Given the description of an element on the screen output the (x, y) to click on. 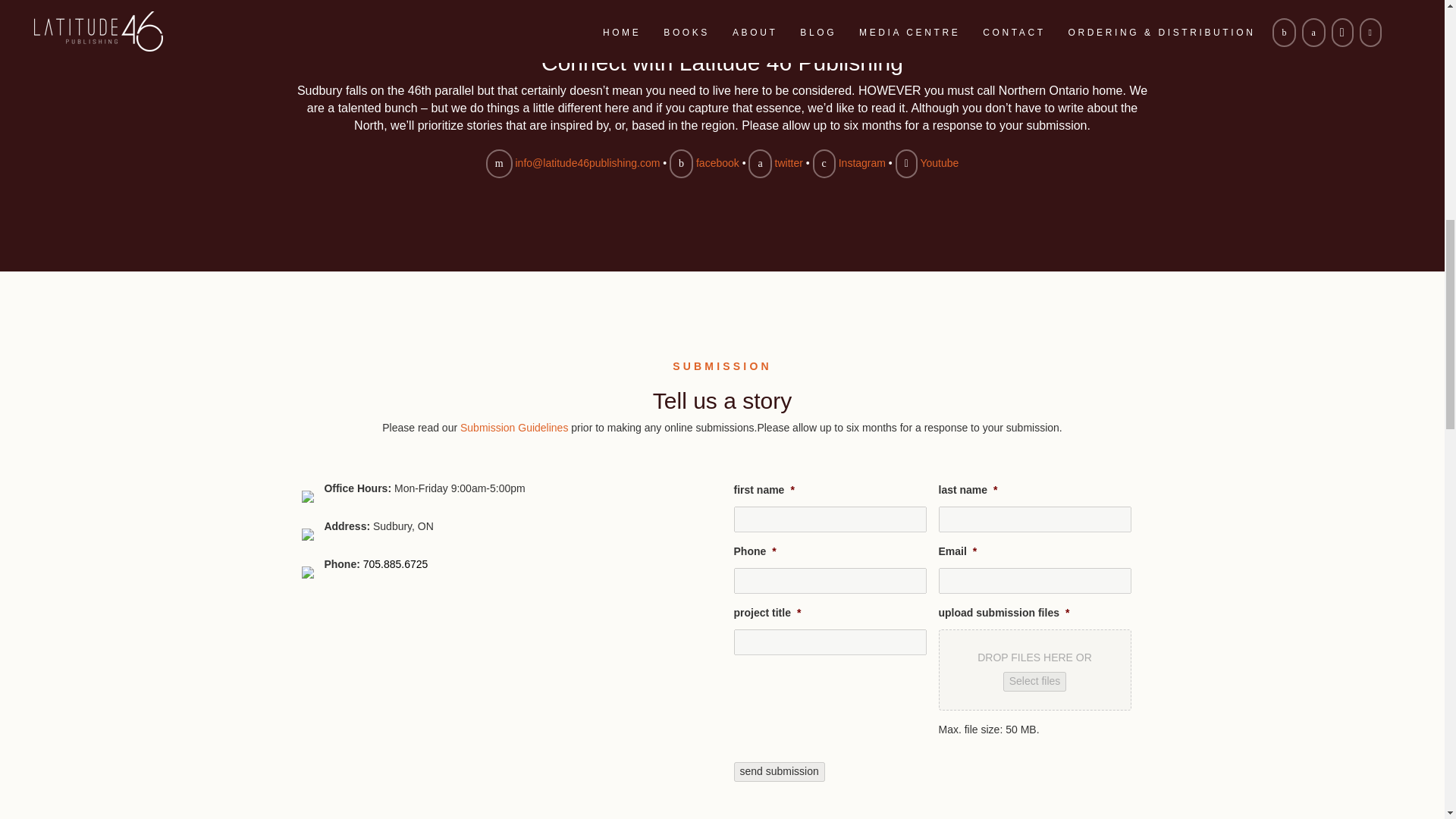
facebook (717, 162)
send submission (779, 772)
send submission (779, 772)
Submission Guidelines (513, 427)
705.885.6725 (395, 563)
Youtube (939, 162)
twitter (788, 162)
Select files (1035, 681)
Instagram (861, 162)
